Given the description of an element on the screen output the (x, y) to click on. 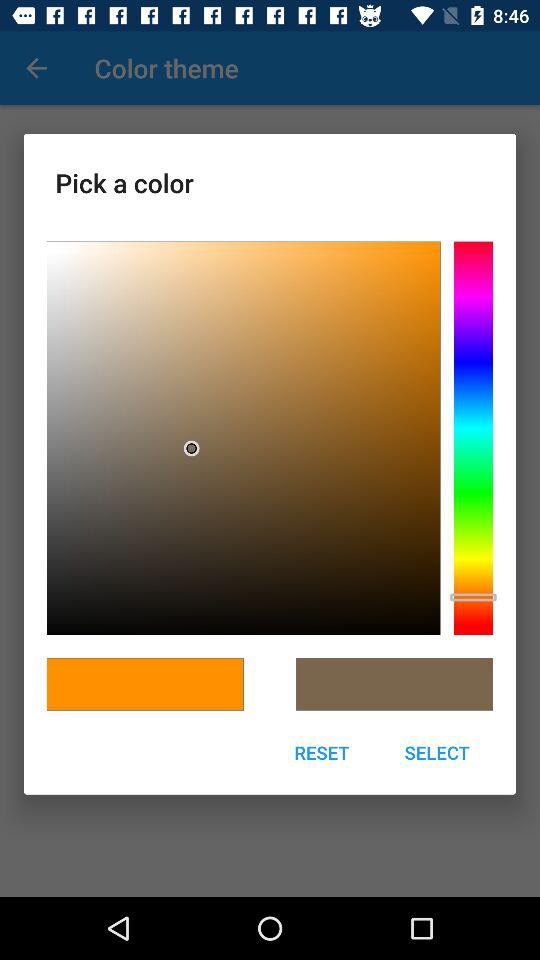
launch icon to the right of the reset (437, 752)
